Given the description of an element on the screen output the (x, y) to click on. 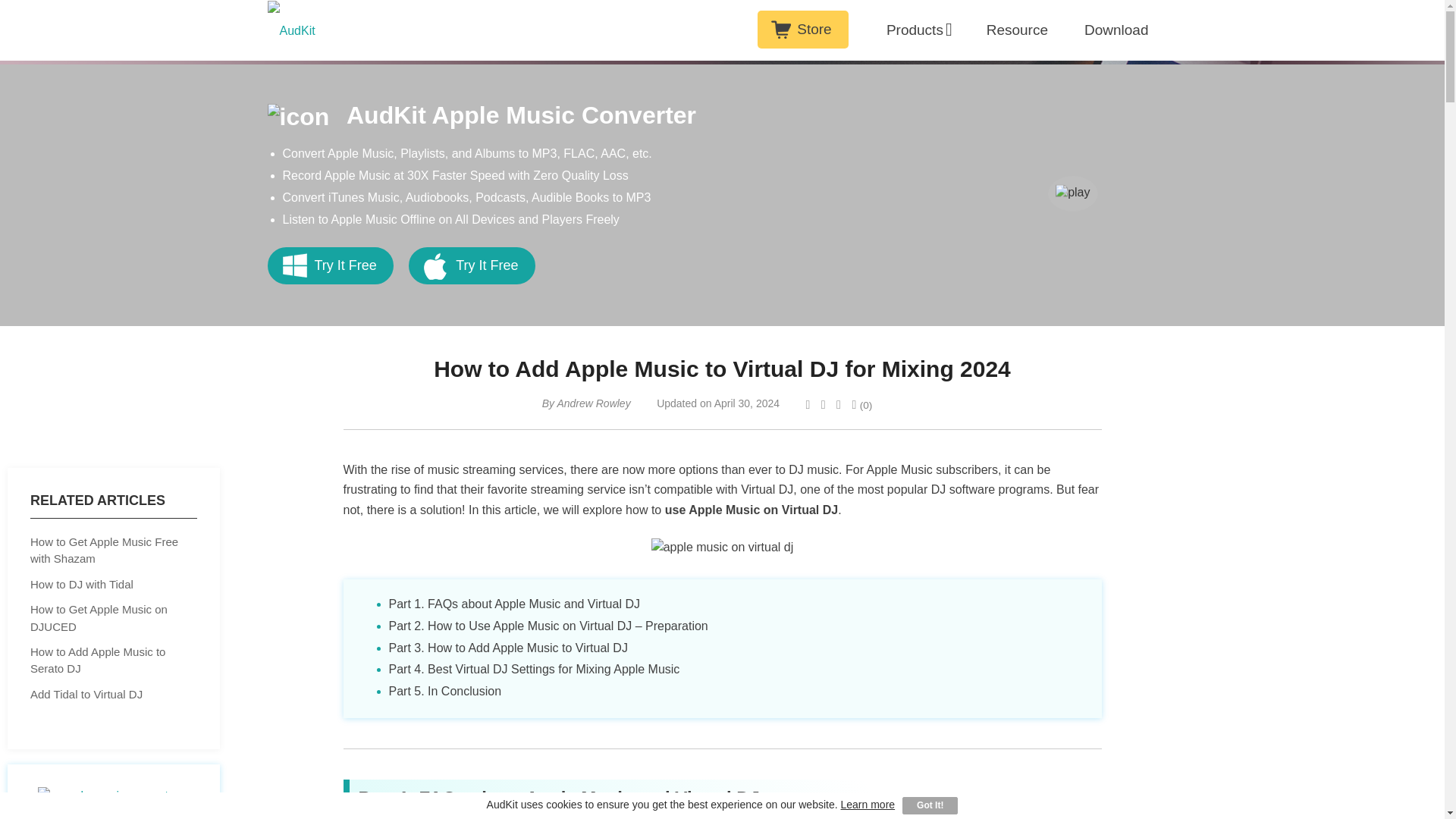
Part 1. FAQs about Apple Music and Virtual DJ (513, 603)
Add Tidal to Virtual DJ (113, 694)
Try It Free (471, 265)
How to Get Apple Music on DJUCED (113, 618)
Store (802, 29)
Part 4. Best Virtual DJ Settings for Mixing Apple Music (533, 668)
Try It Free (329, 265)
How to Get Apple Music Free with Shazam (113, 550)
How to Add Apple Music to Serato DJ (113, 660)
Apple Music Converter (113, 791)
Resource (1017, 30)
Part 5. In Conclusion (444, 690)
How to DJ with Tidal (113, 584)
AudKit Apple Music Converter (480, 114)
Comments (861, 405)
